Given the description of an element on the screen output the (x, y) to click on. 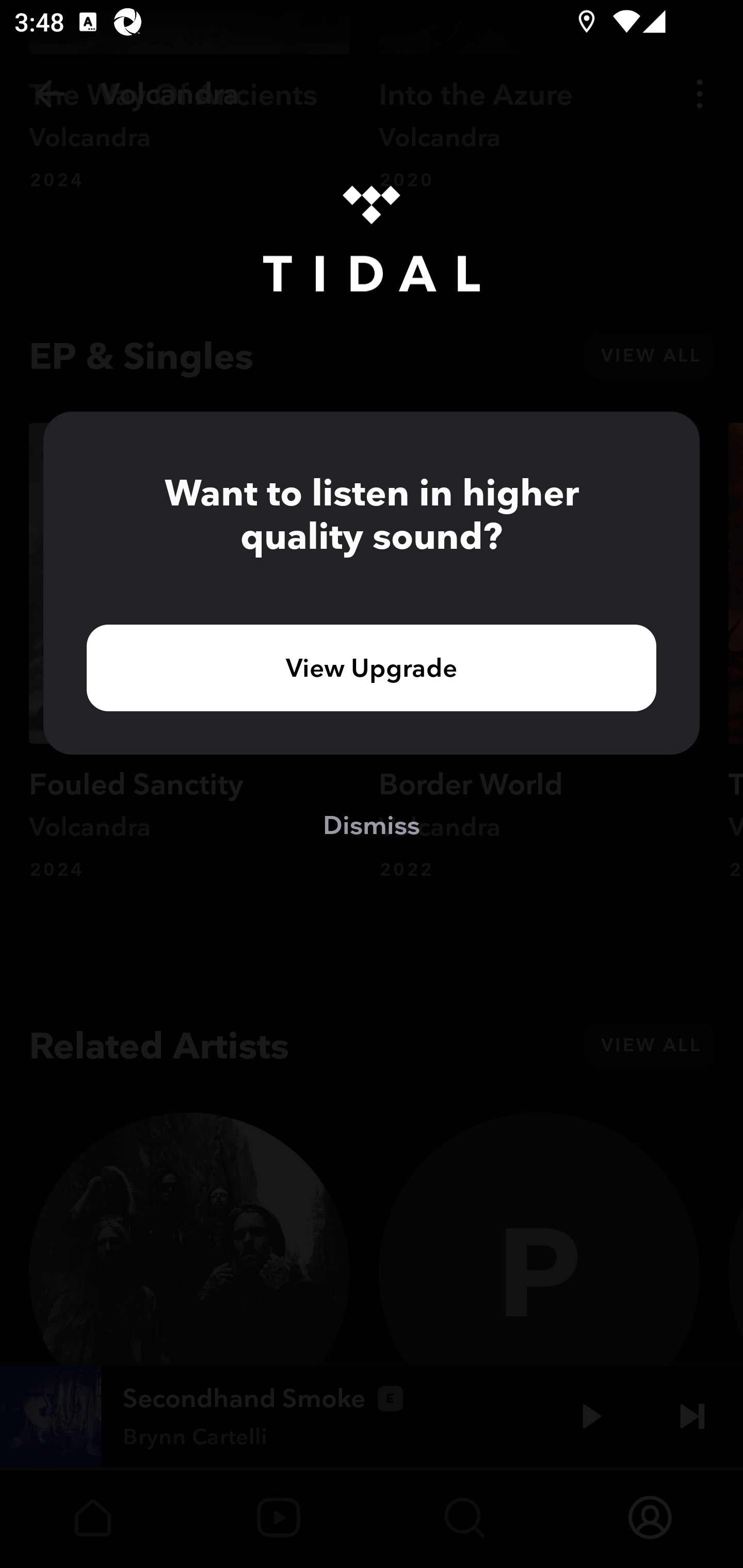
View Upgrade (371, 667)
Dismiss (371, 824)
